Given the description of an element on the screen output the (x, y) to click on. 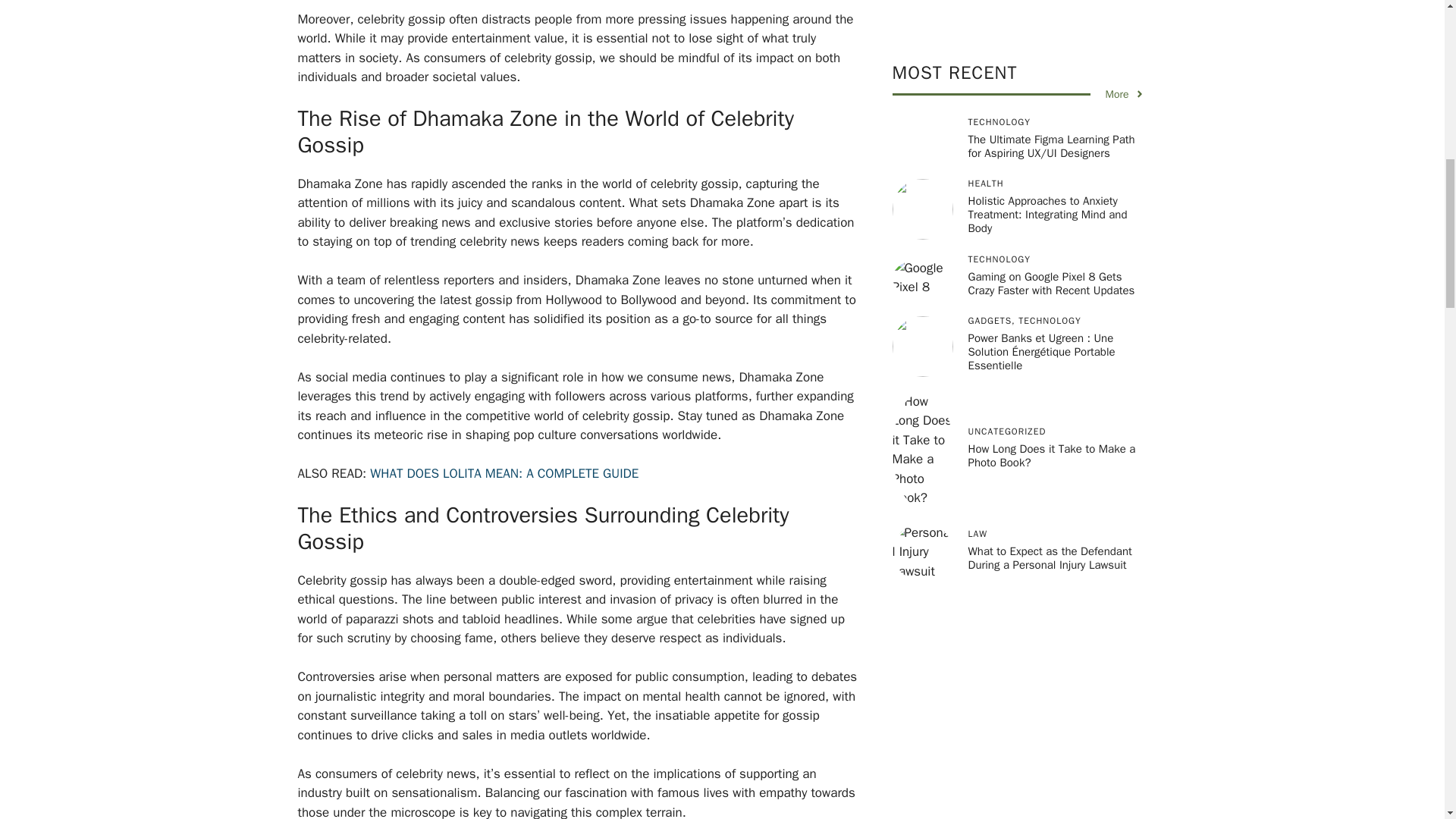
WHAT DOES LOLITA MEAN: A COMPLETE GUIDE (504, 473)
